Given the description of an element on the screen output the (x, y) to click on. 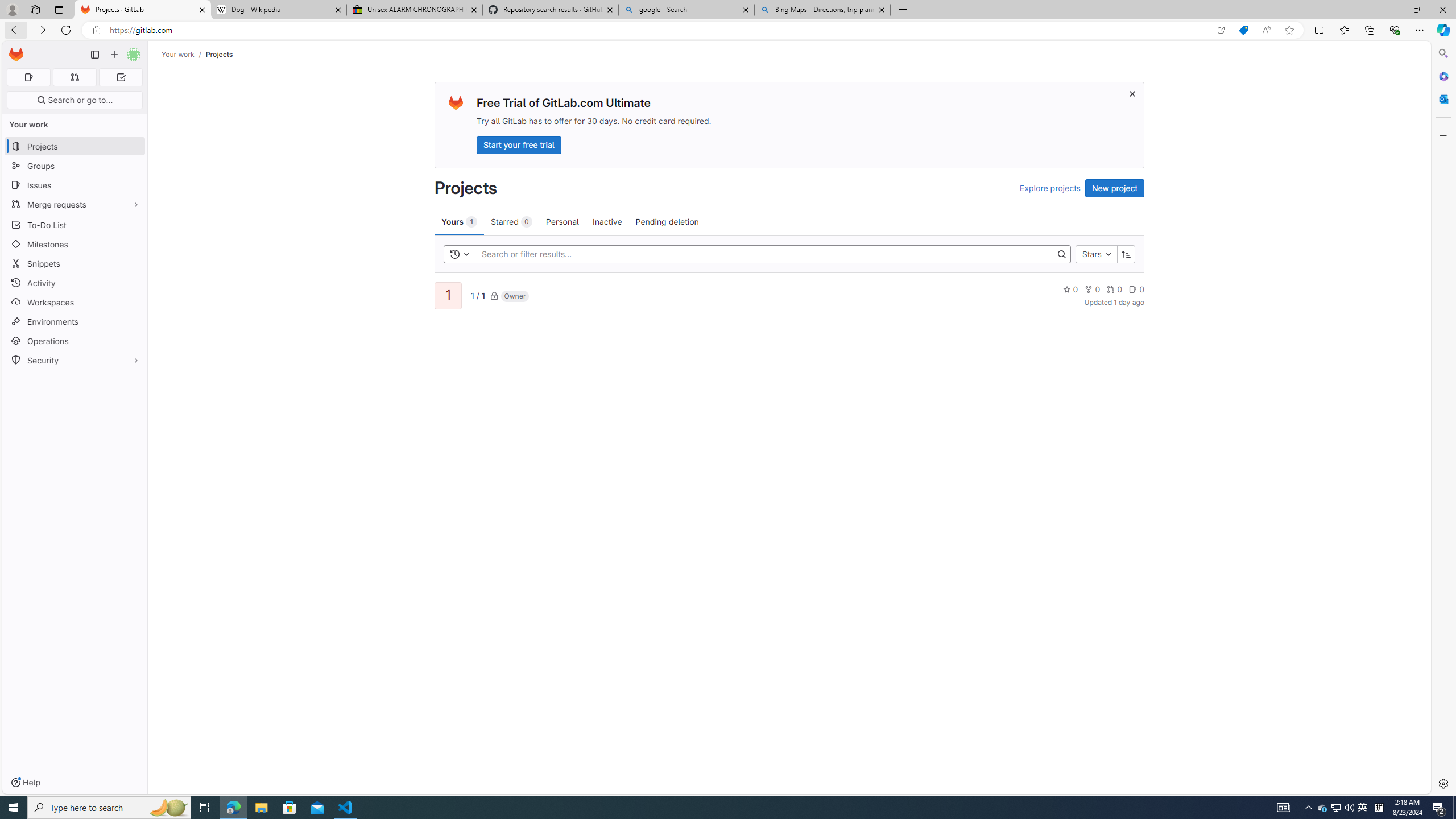
Yours 1 (458, 221)
Dog - Wikipedia (277, 9)
Assigned issues 0 (28, 76)
Sort direction: Ascending (1125, 253)
Environments (74, 321)
1 / 1 (477, 294)
Projects (218, 53)
11 / 1Owner0000Updated 1 day ago (788, 295)
